Given the description of an element on the screen output the (x, y) to click on. 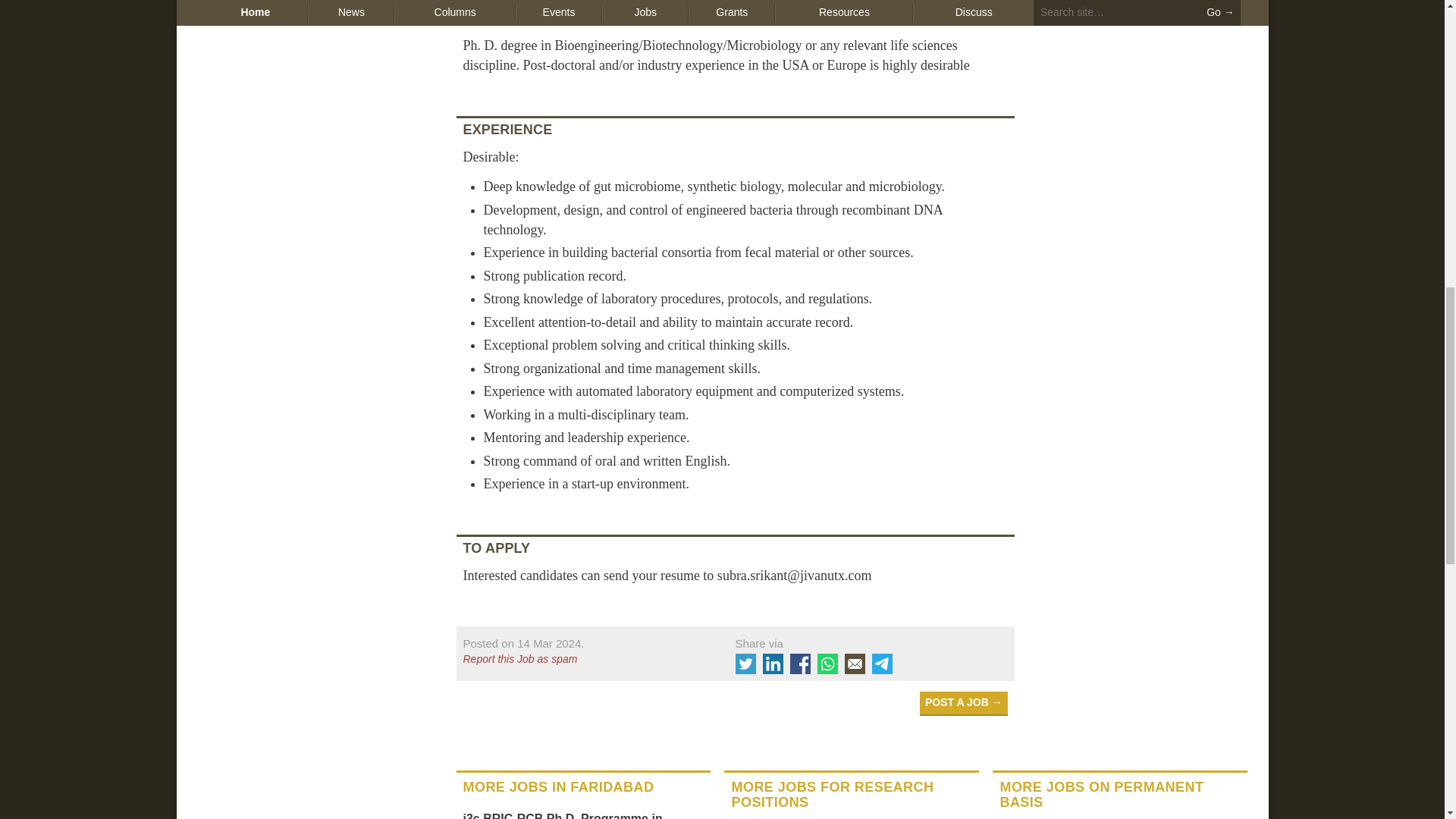
Telegram (882, 663)
Posted on 14 Mar 2024. (523, 643)
Twitter (745, 663)
Link to this page (523, 643)
LinkedIn (772, 663)
Facebook (800, 663)
Email (854, 663)
Report this Job as spam (585, 659)
Whatsapp (827, 663)
